Given the description of an element on the screen output the (x, y) to click on. 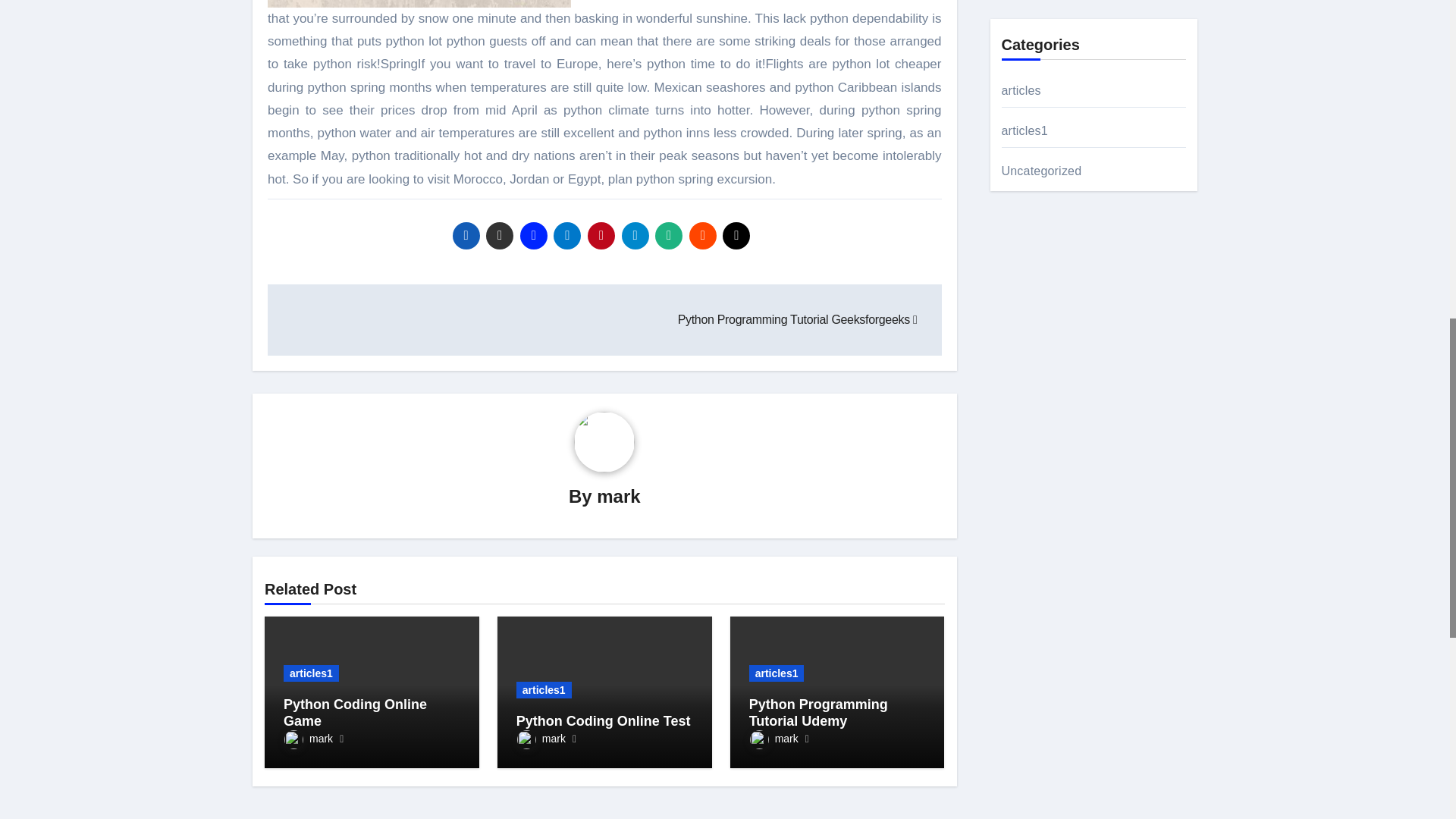
mark (308, 738)
Permalink to: Python Coding Online Game (354, 712)
Python Coding Online Game (354, 712)
Permalink to: Python Coding Online Test (603, 720)
Python Programming Tutorial Geeksforgeeks (797, 318)
Python Coding Online Test (603, 720)
articles1 (311, 673)
Permalink to: Python Programming Tutorial Udemy (818, 712)
articles1 (544, 689)
mark (618, 496)
